Given the description of an element on the screen output the (x, y) to click on. 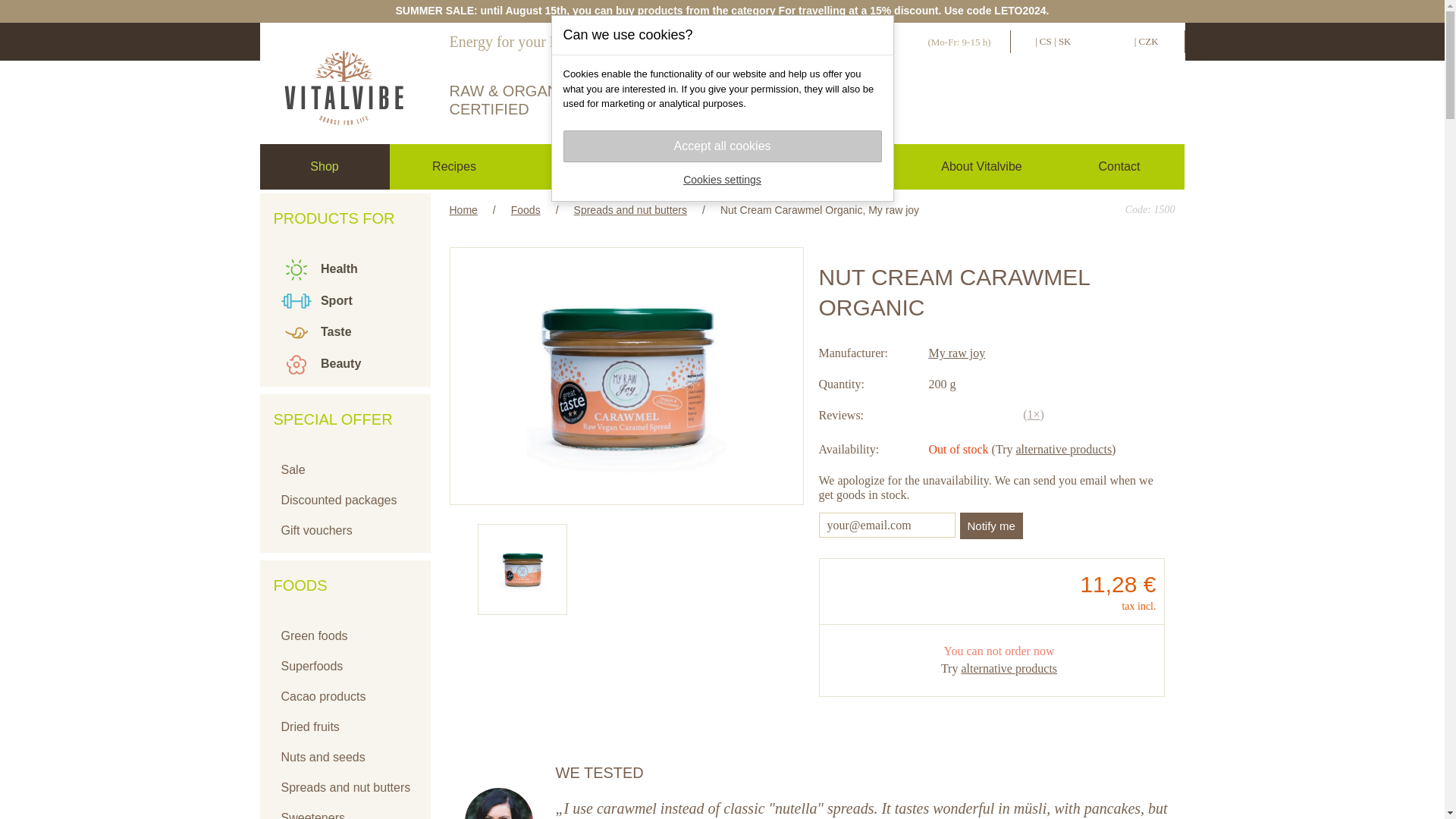
SK (1064, 41)
Log in to your customer account (923, 103)
EN (1025, 41)
Czech (1045, 41)
CZK (1148, 41)
Homepage (342, 79)
View my shopping cart (1100, 103)
EUR (1121, 41)
CS (1045, 41)
